Given the description of an element on the screen output the (x, y) to click on. 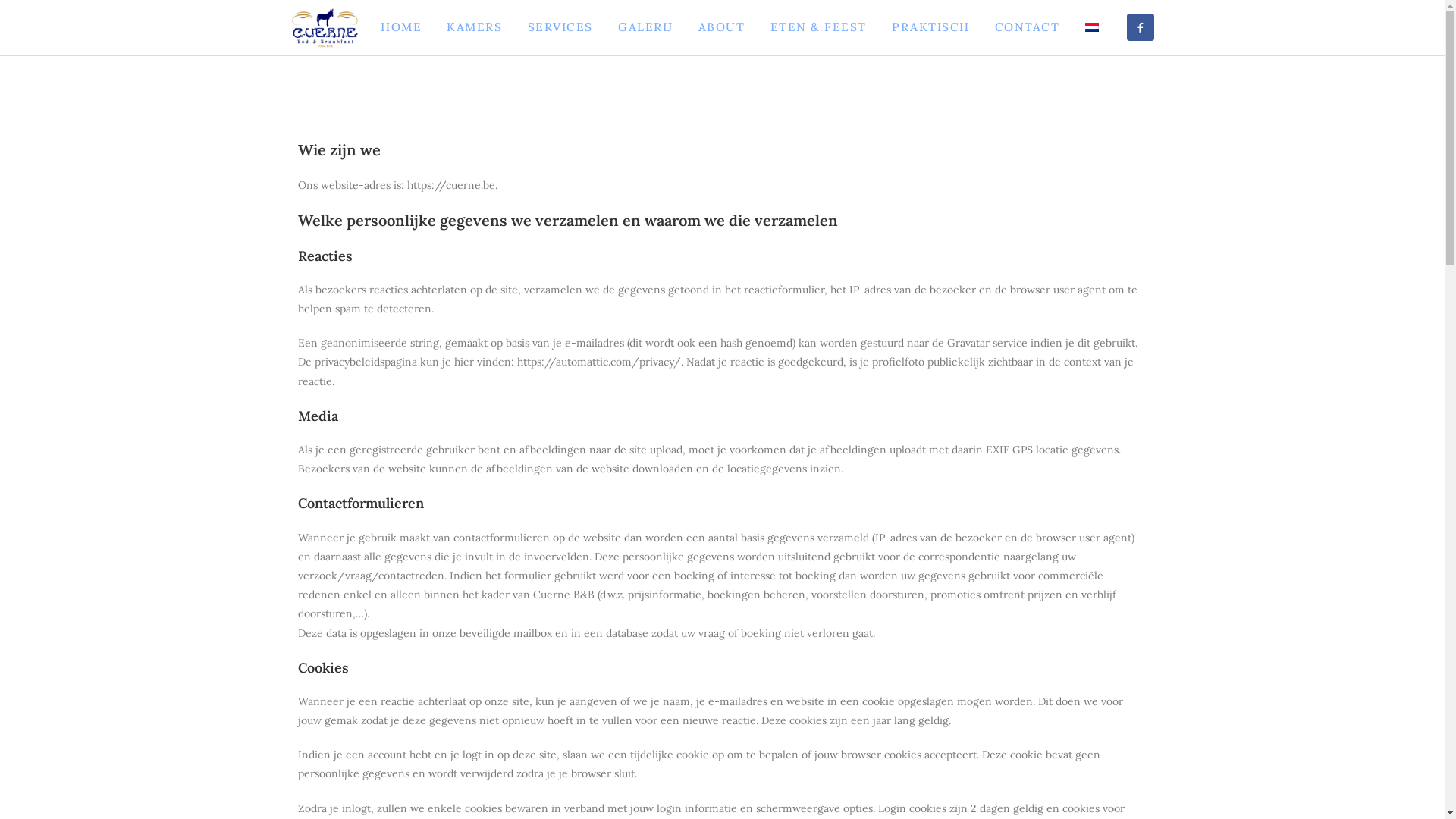
PRAKTISCH Element type: text (930, 27)
CONTACT Element type: text (1027, 27)
KAMERS Element type: text (474, 27)
GALERIJ Element type: text (645, 27)
ETEN & FEEST Element type: text (817, 27)
SERVICES Element type: text (559, 27)
HOME Element type: text (400, 27)
ABOUT Element type: text (721, 27)
